Given the description of an element on the screen output the (x, y) to click on. 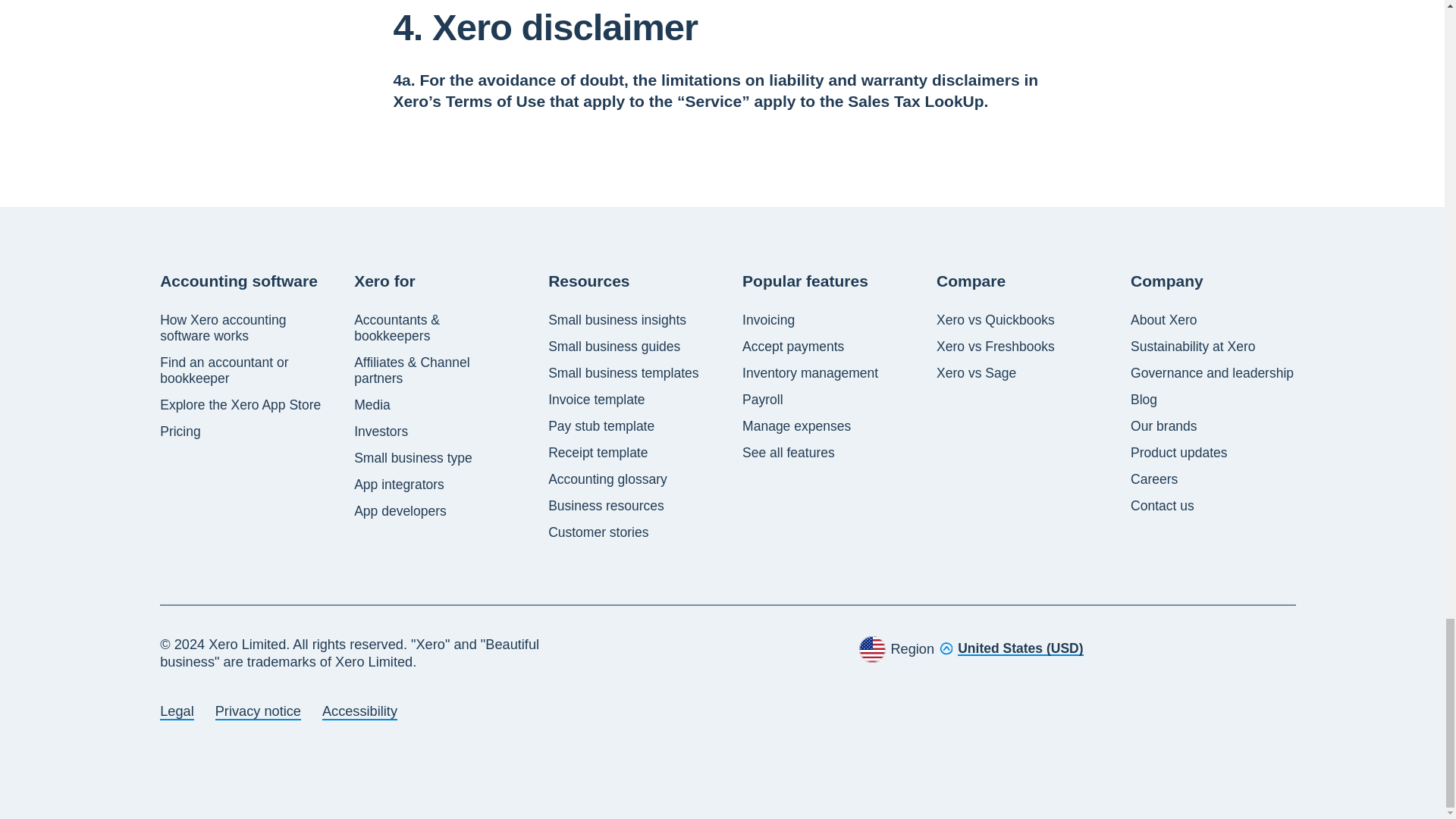
Small business guides (613, 346)
Small business type (412, 458)
Small business insights (616, 320)
Invoice template (596, 399)
App developers (399, 511)
Media (371, 405)
How Xero accounting software works (242, 327)
Pricing (180, 431)
Pay stub template (600, 426)
Small business templates (623, 373)
